Given the description of an element on the screen output the (x, y) to click on. 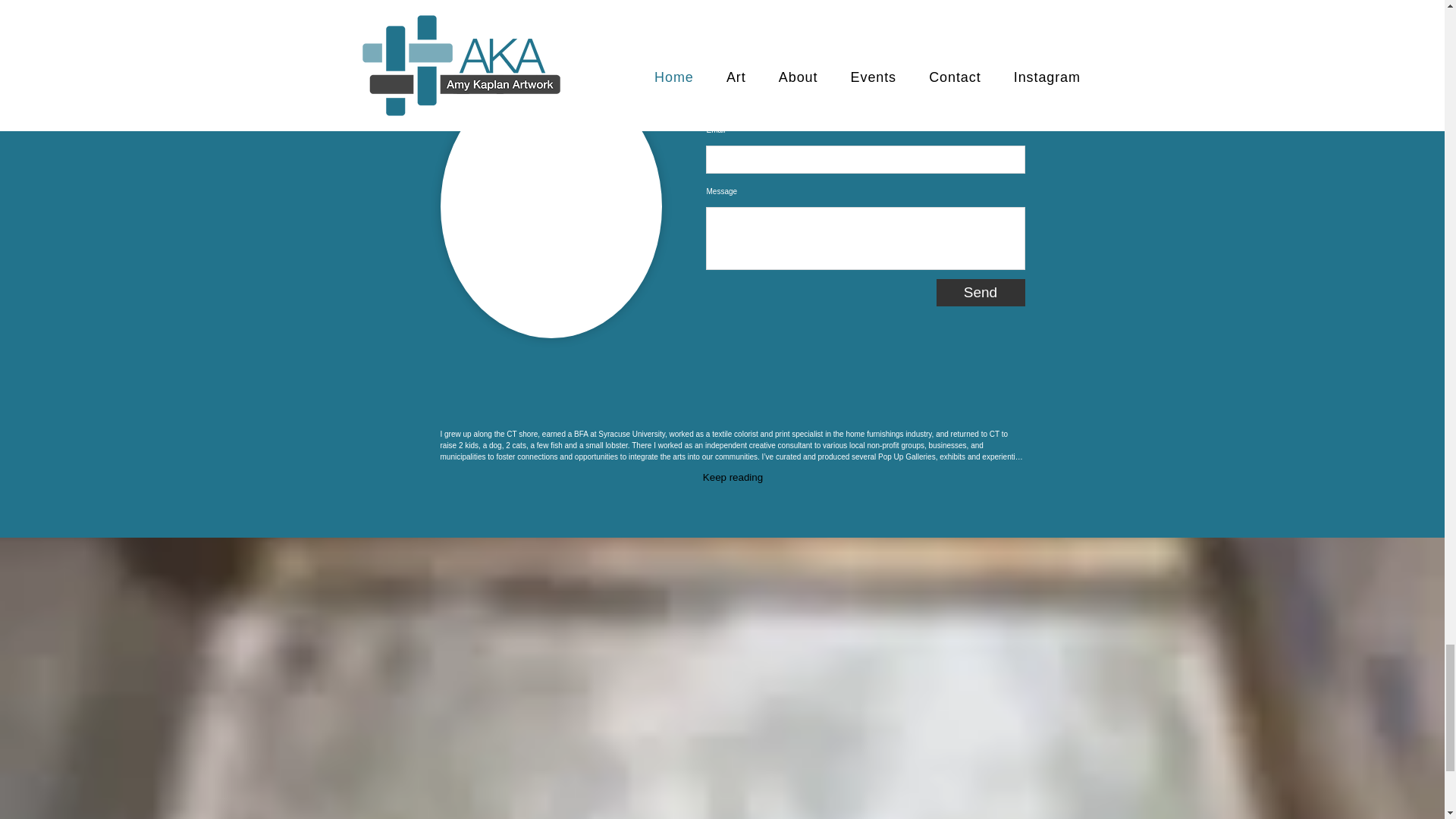
Keep reading (732, 477)
Send (980, 292)
